Given the description of an element on the screen output the (x, y) to click on. 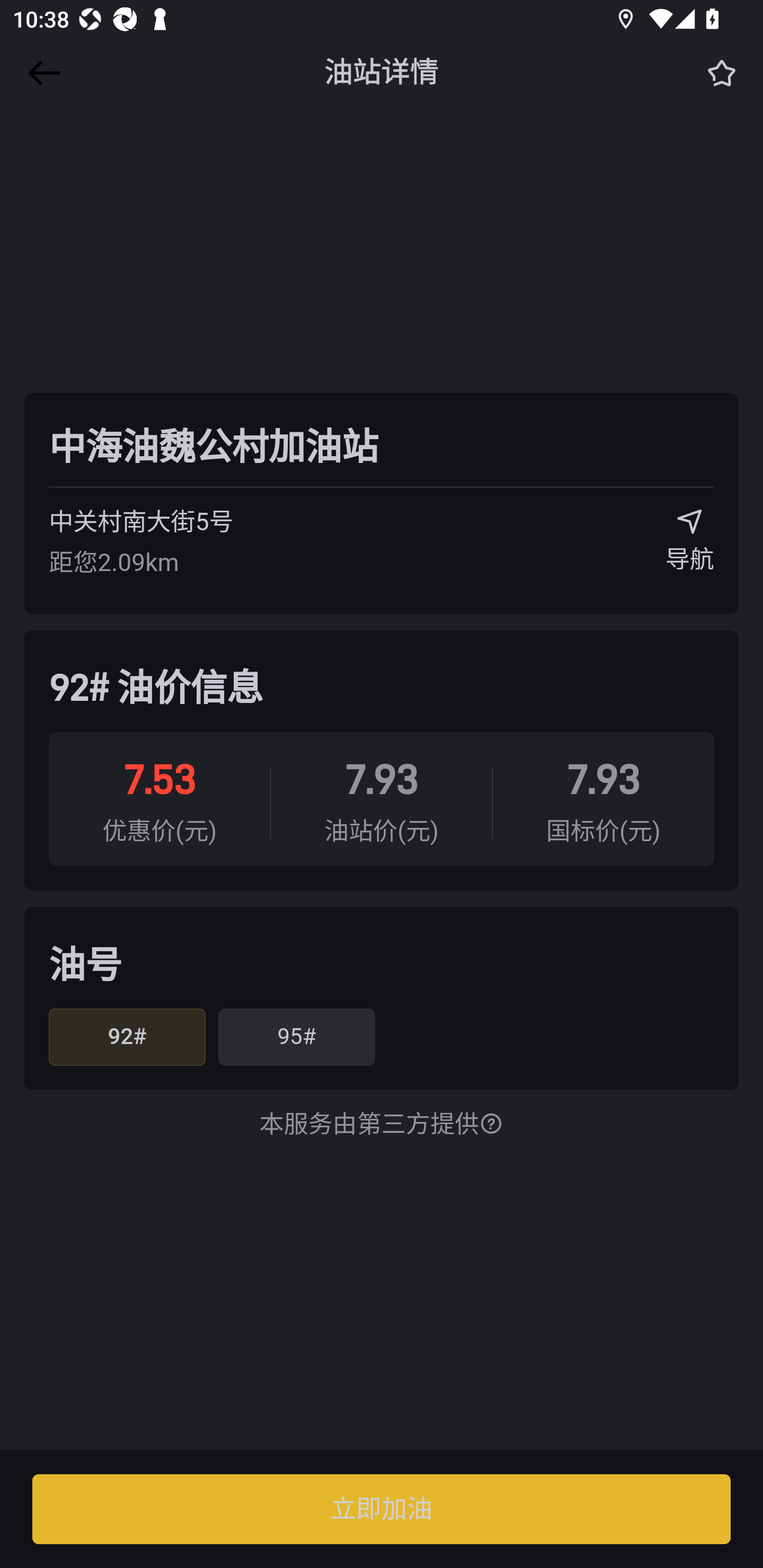
 (41, 72)
油站详情 (381, 72)
导航 (689, 547)
92#  (126, 1037)
95#  (296, 1037)
本服务由第三方提供 (381, 1124)
立即加油 (381, 1508)
